Given the description of an element on the screen output the (x, y) to click on. 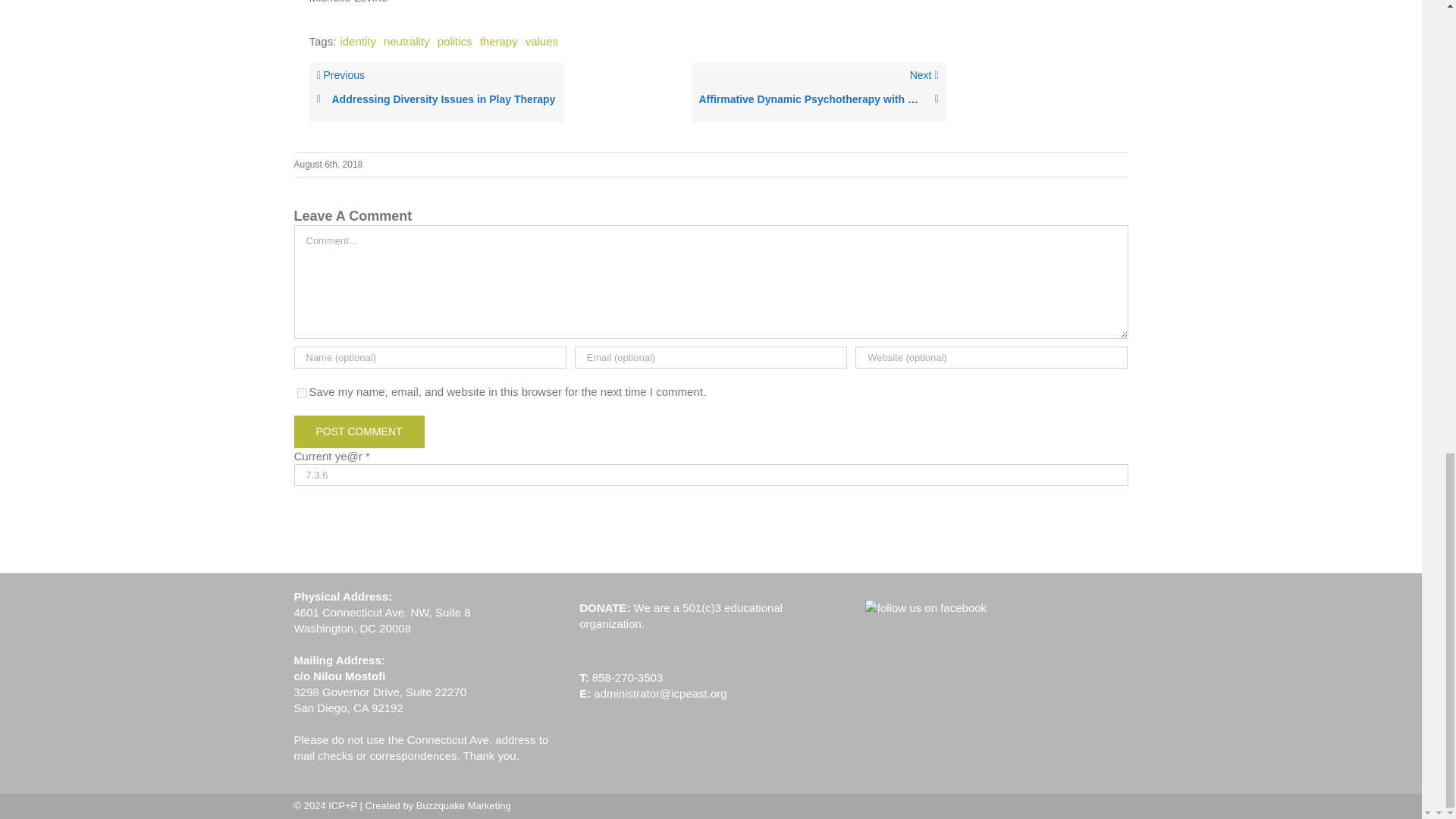
yes (302, 393)
Addressing Diversity Issues in Play Therapy (436, 99)
follow us on facebook (925, 607)
Affirmative Dynamic Psychotherapy with Gay Men (818, 99)
Post Comment (359, 431)
7.3.6 (711, 475)
